Given the description of an element on the screen output the (x, y) to click on. 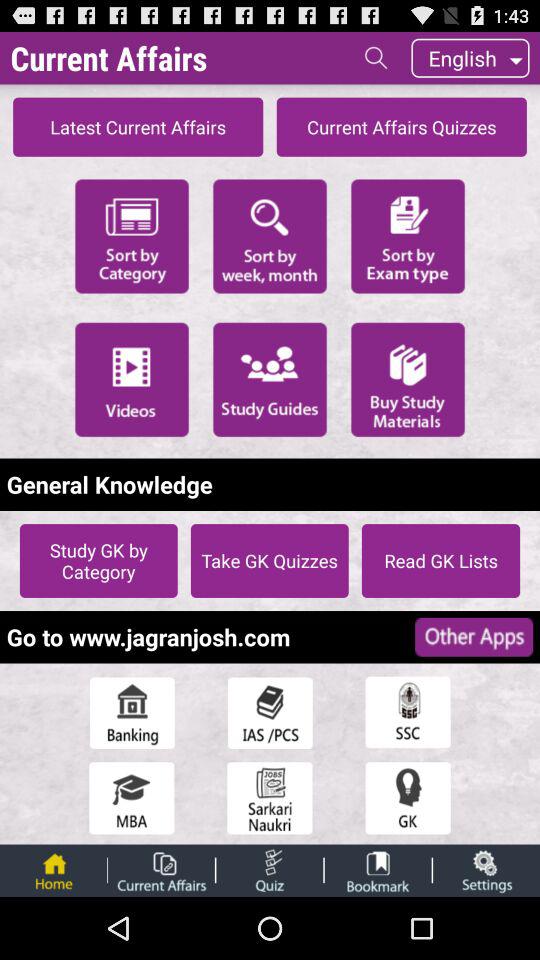
open a menu (269, 712)
